Given the description of an element on the screen output the (x, y) to click on. 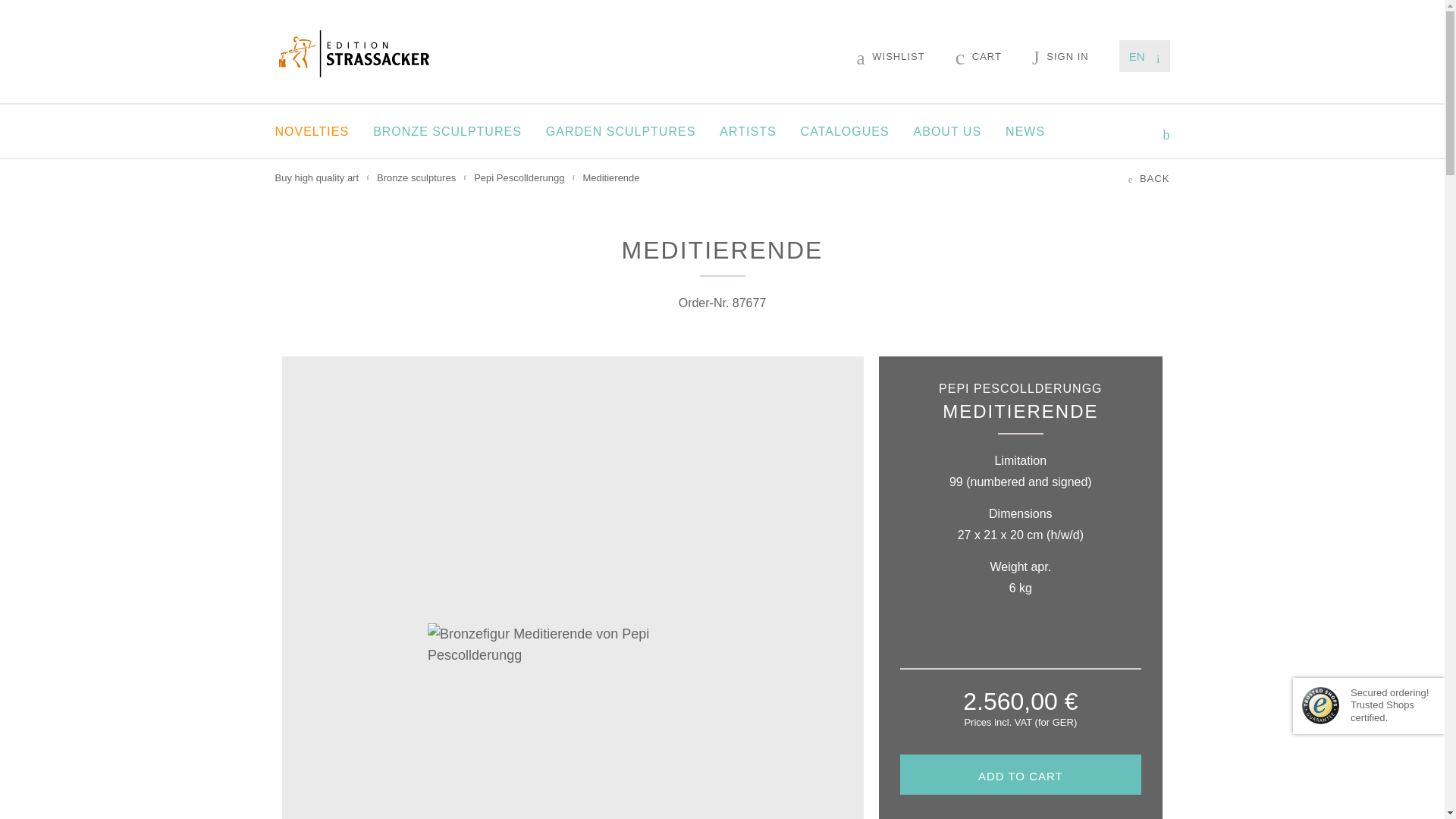
NOVELTIES (312, 131)
GARDEN SCULPTURES (620, 131)
SIGN IN (1060, 56)
WISHLIST (890, 56)
BRONZE SCULPTURES (446, 131)
CART (978, 56)
